Given the description of an element on the screen output the (x, y) to click on. 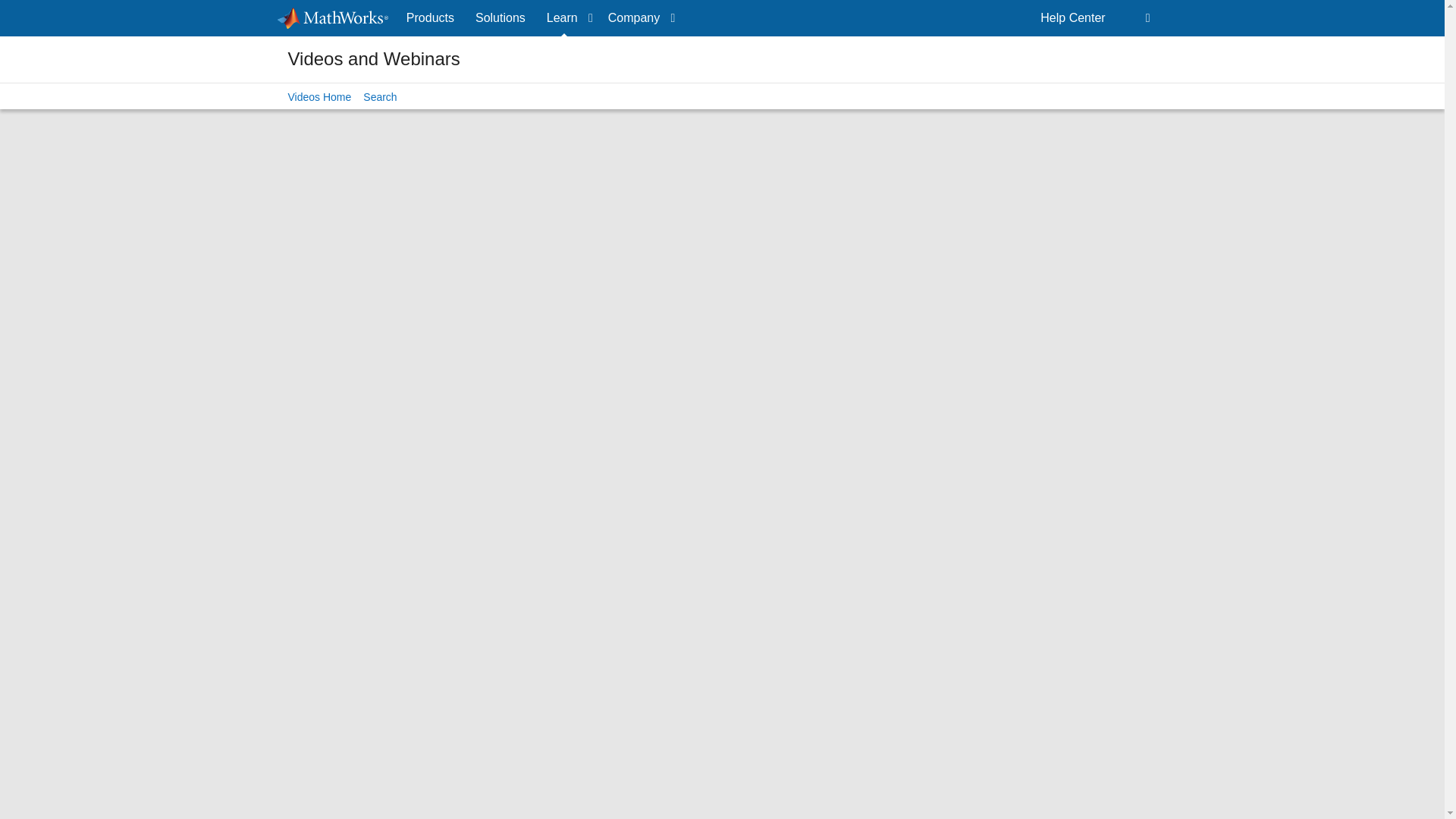
Help Center (1071, 18)
Learn (566, 18)
Company (638, 18)
Products (430, 18)
Solutions (499, 18)
